Given the description of an element on the screen output the (x, y) to click on. 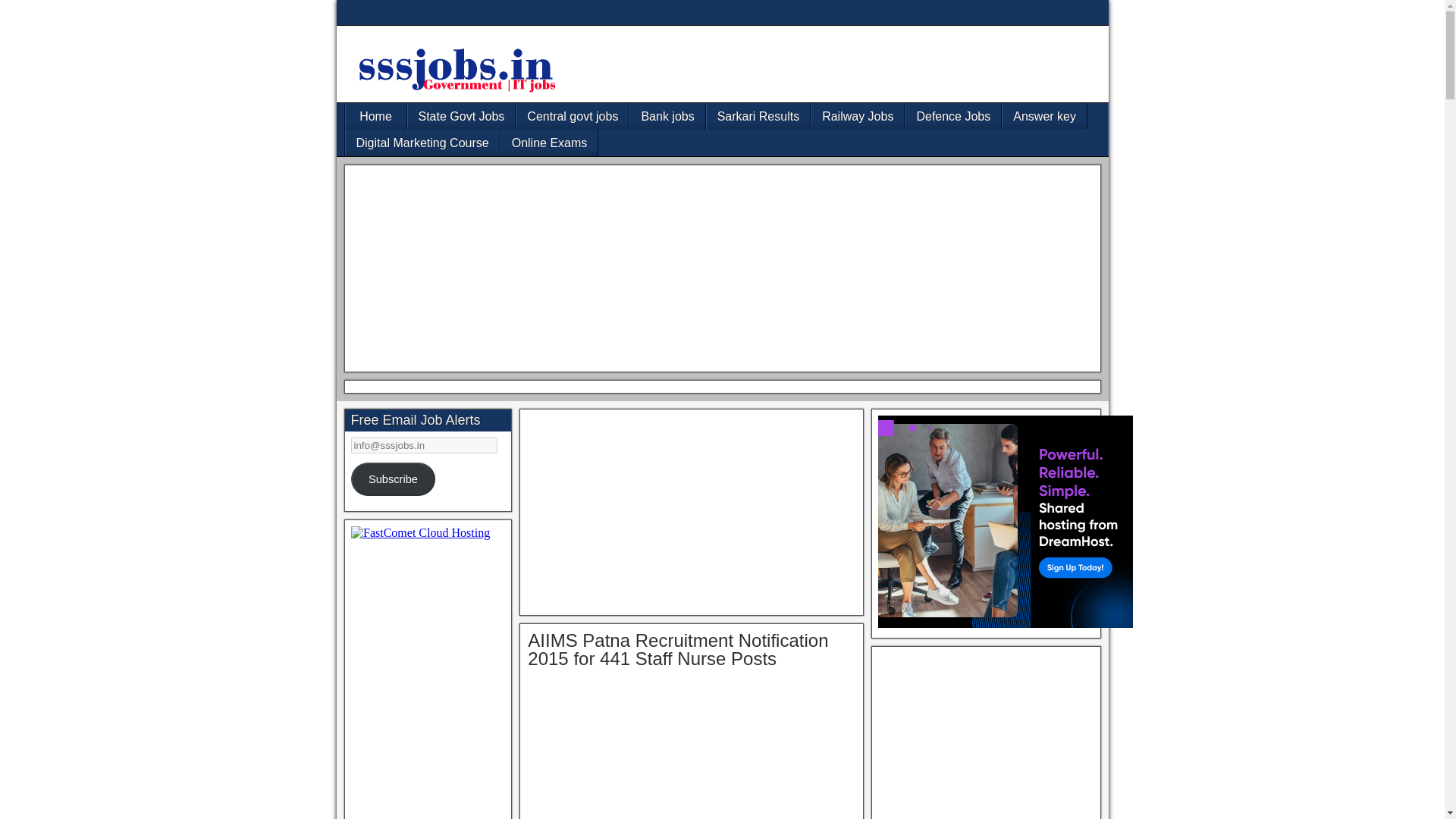
Bank jobs (667, 116)
State Govt Jobs (461, 116)
Railway Jobs (857, 116)
Digital Marketing Course (422, 142)
Central govt jobs (572, 116)
Home (376, 116)
Online Exams (549, 142)
Answer key (1044, 116)
Sarkari Results (757, 116)
Subscribe (392, 479)
